Given the description of an element on the screen output the (x, y) to click on. 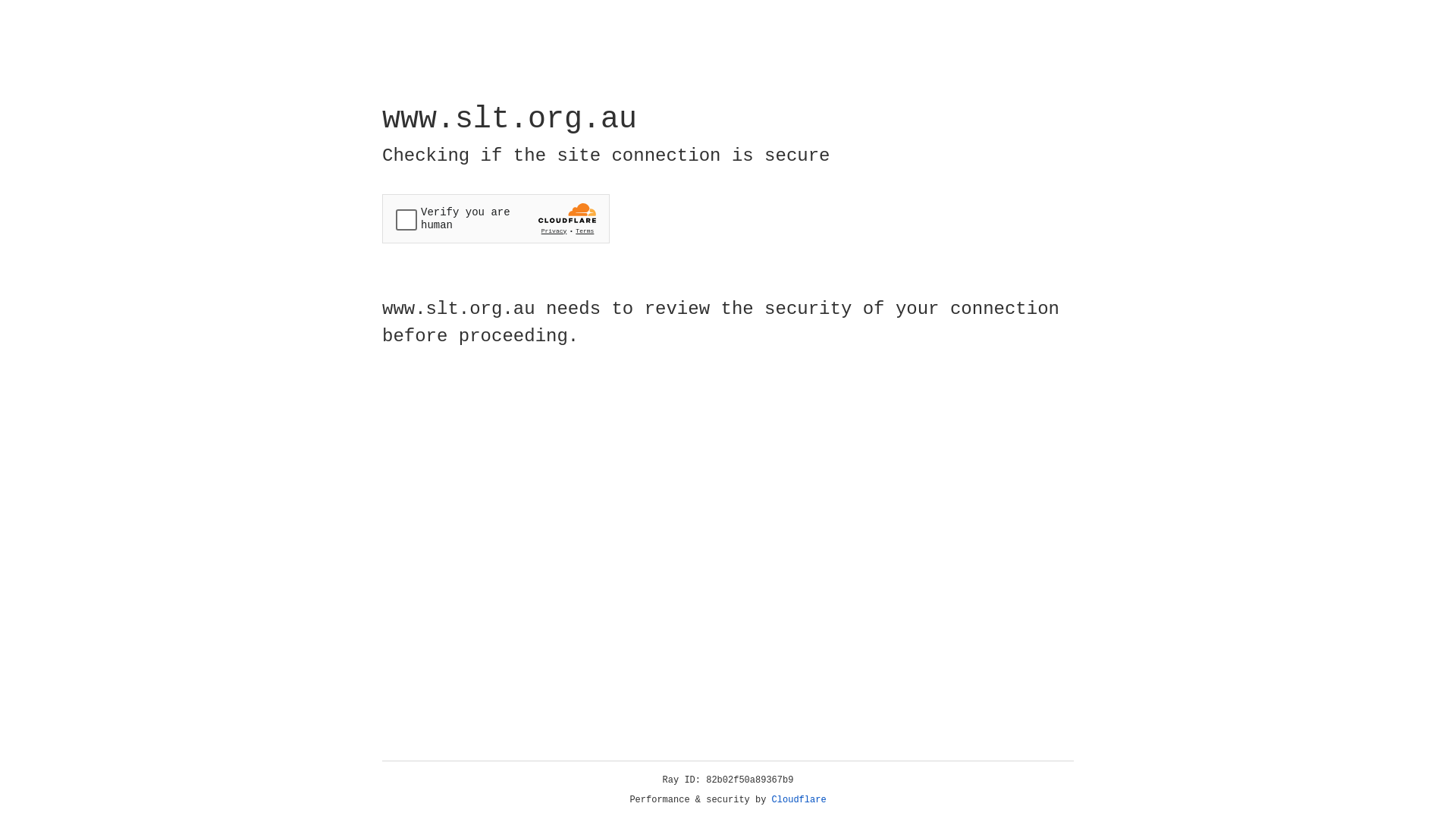
Widget containing a Cloudflare security challenge Element type: hover (495, 218)
Cloudflare Element type: text (798, 799)
